Given the description of an element on the screen output the (x, y) to click on. 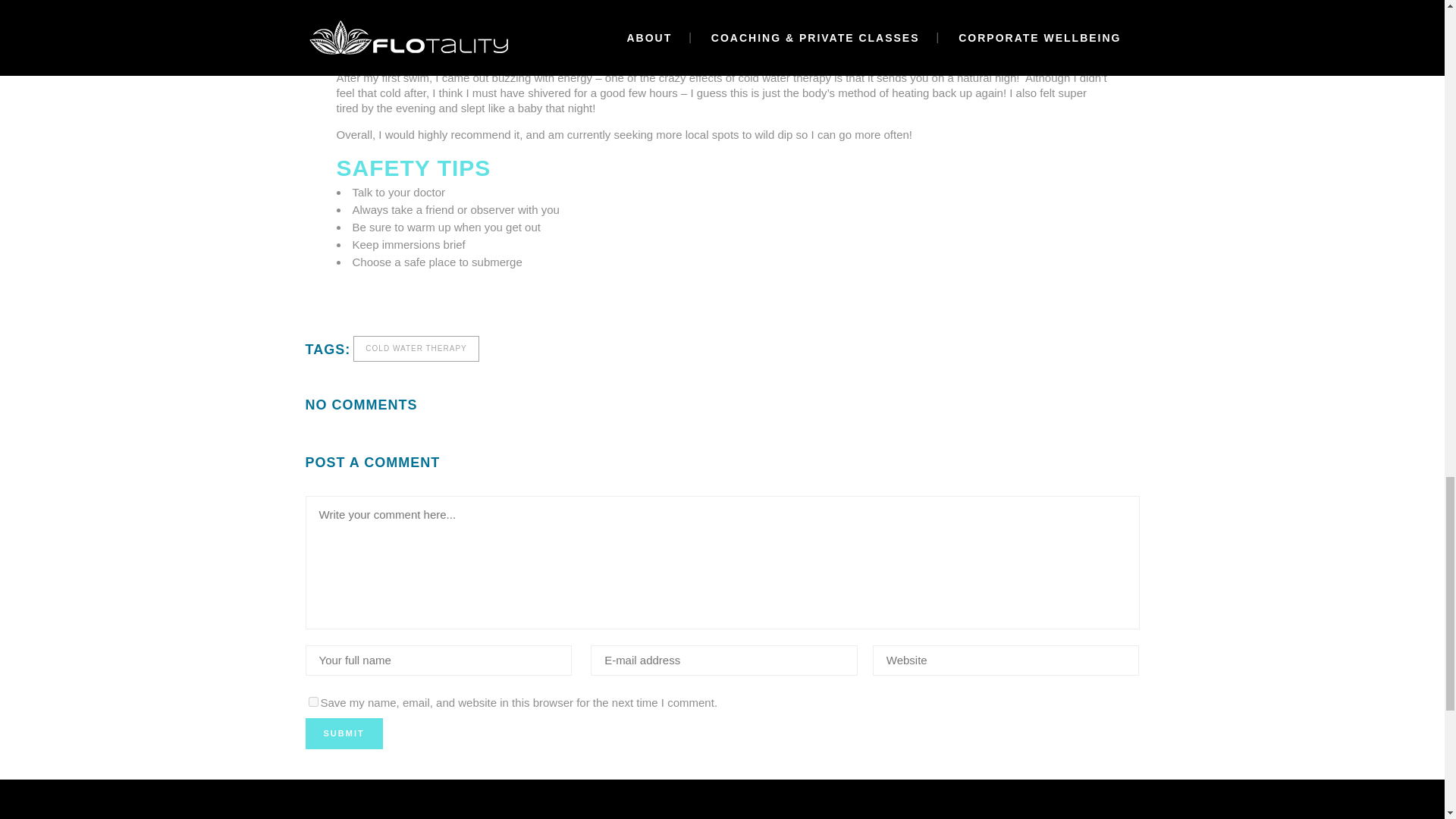
COLD WATER THERAPY (416, 348)
Submit (342, 733)
Submit (342, 733)
yes (312, 701)
